Given the description of an element on the screen output the (x, y) to click on. 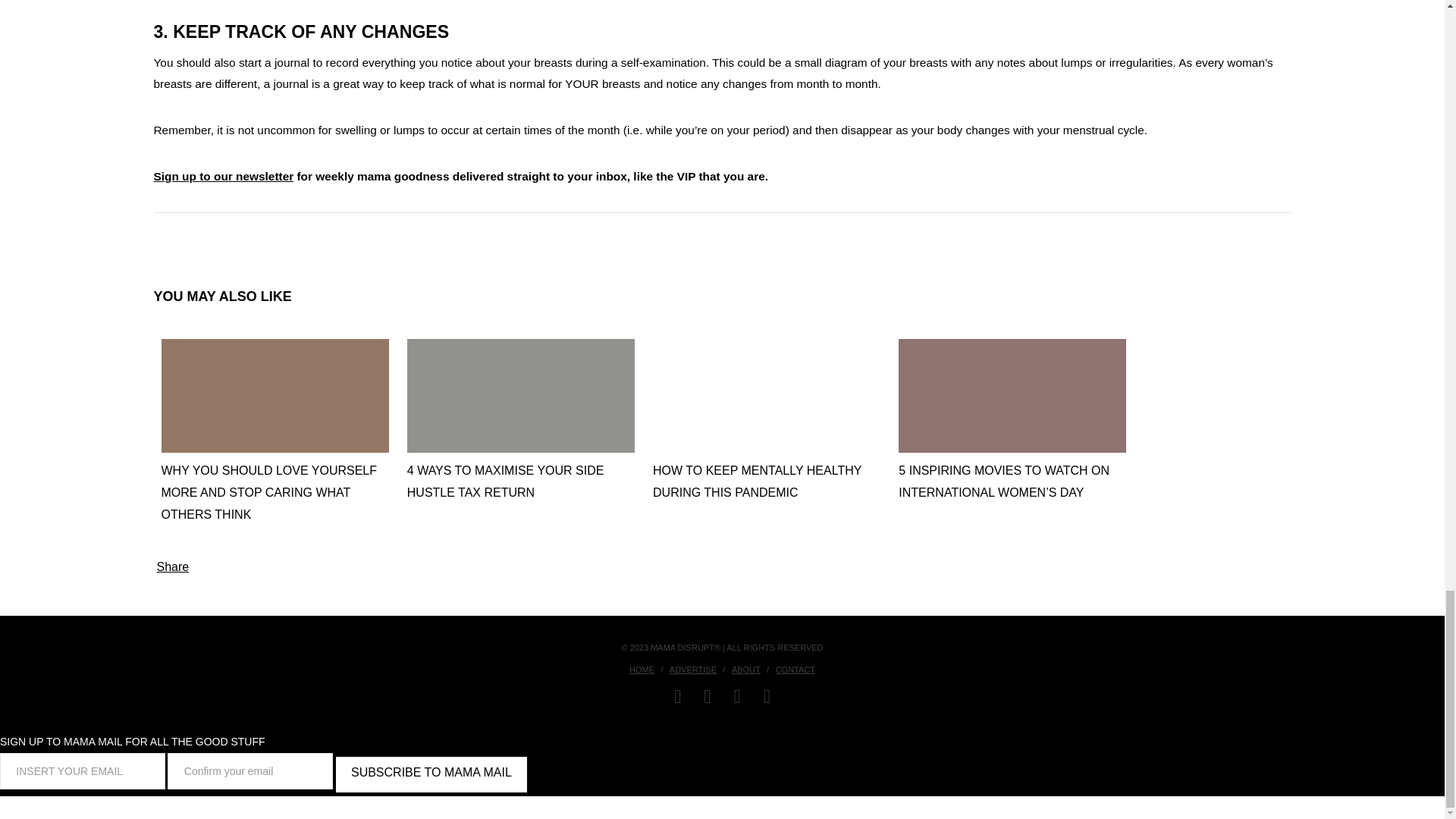
SUBSCRIBE TO MAMA MAIL (431, 774)
